Given the description of an element on the screen output the (x, y) to click on. 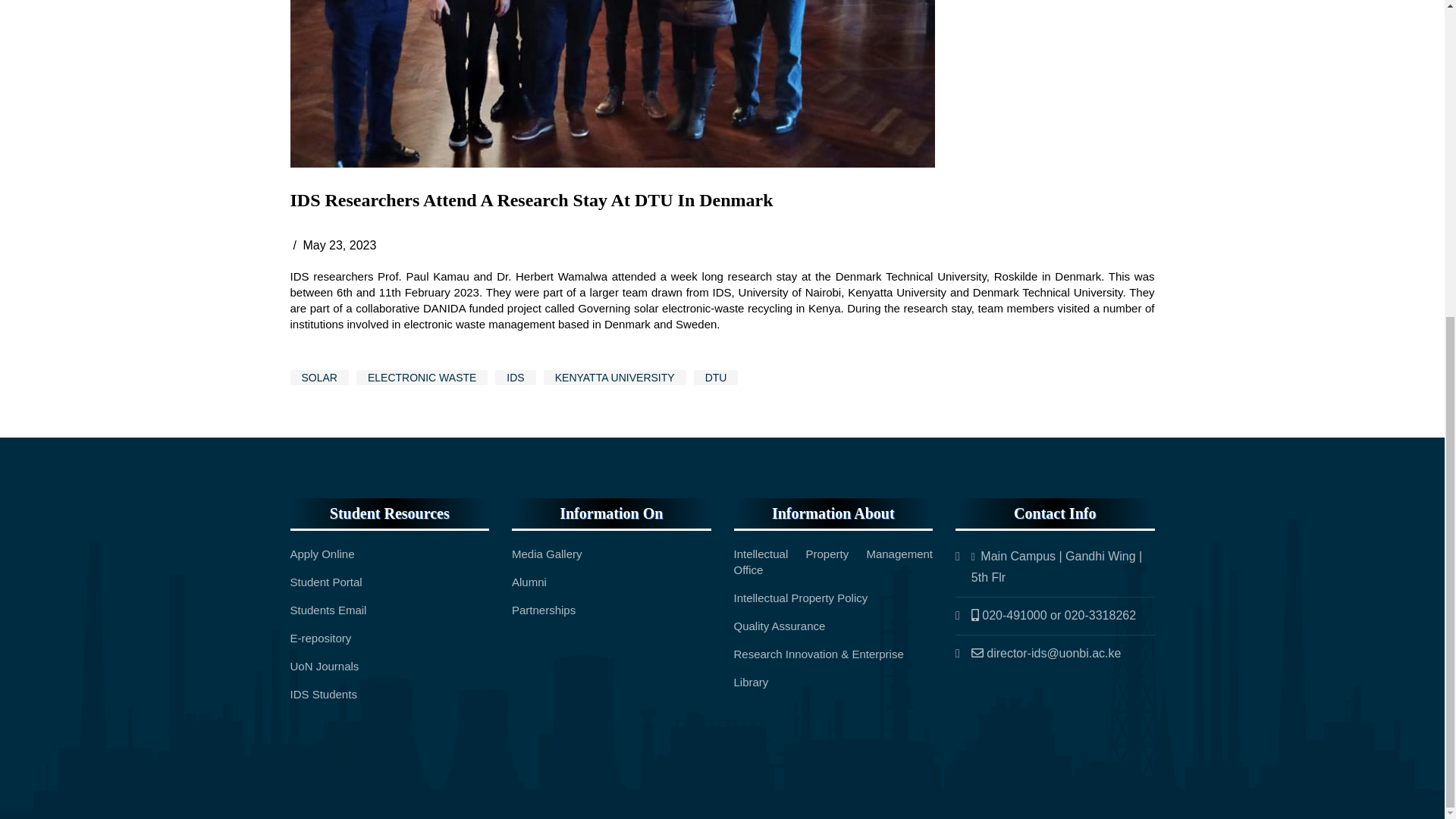
IPMO (833, 561)
IDS Students (322, 694)
DVC RIE (818, 653)
UoN Journals (323, 666)
IPMO Policy (800, 597)
Quality Assurance (779, 625)
Research Publications in Repository (321, 637)
